Given the description of an element on the screen output the (x, y) to click on. 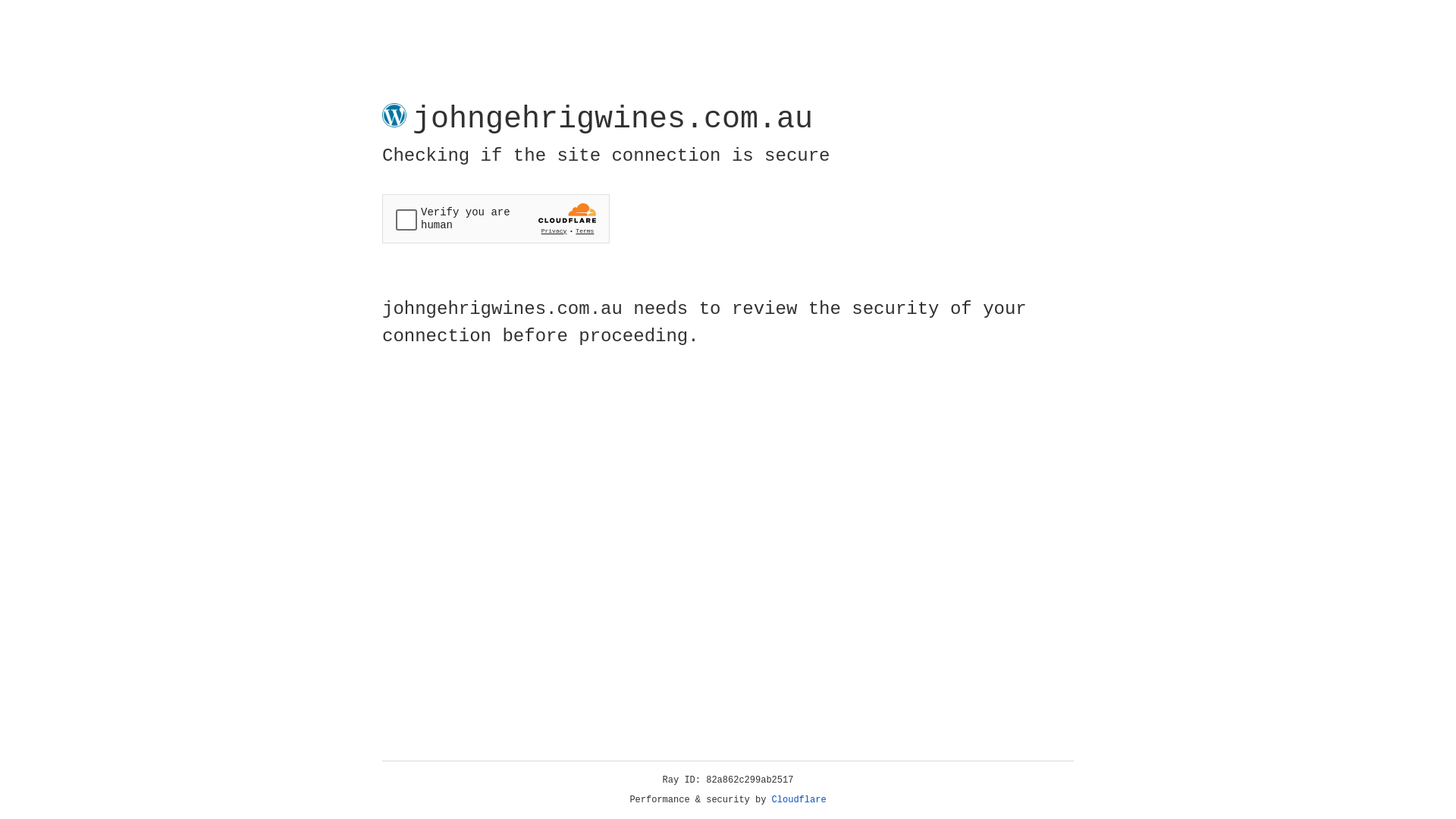
Cloudflare Element type: text (798, 799)
Widget containing a Cloudflare security challenge Element type: hover (495, 218)
